Given the description of an element on the screen output the (x, y) to click on. 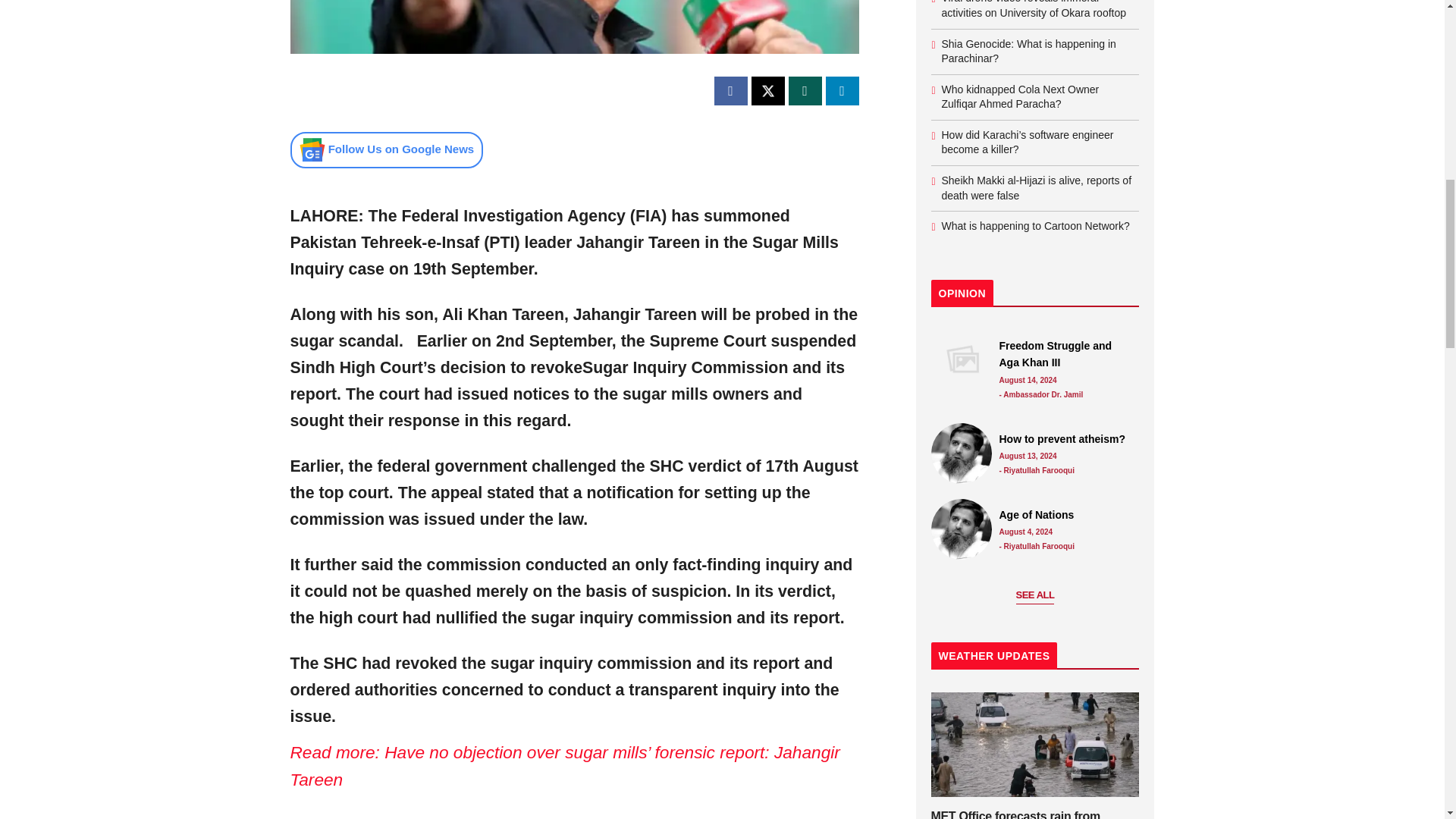
How to prevent atheism? (961, 453)
How to prevent atheism? (1065, 438)
Age of Nations (961, 528)
Age of Nations (1065, 514)
Freedom Struggle and Aga Khan III (1065, 354)
Freedom Struggle and Aga Khan III (961, 360)
